Given the description of an element on the screen output the (x, y) to click on. 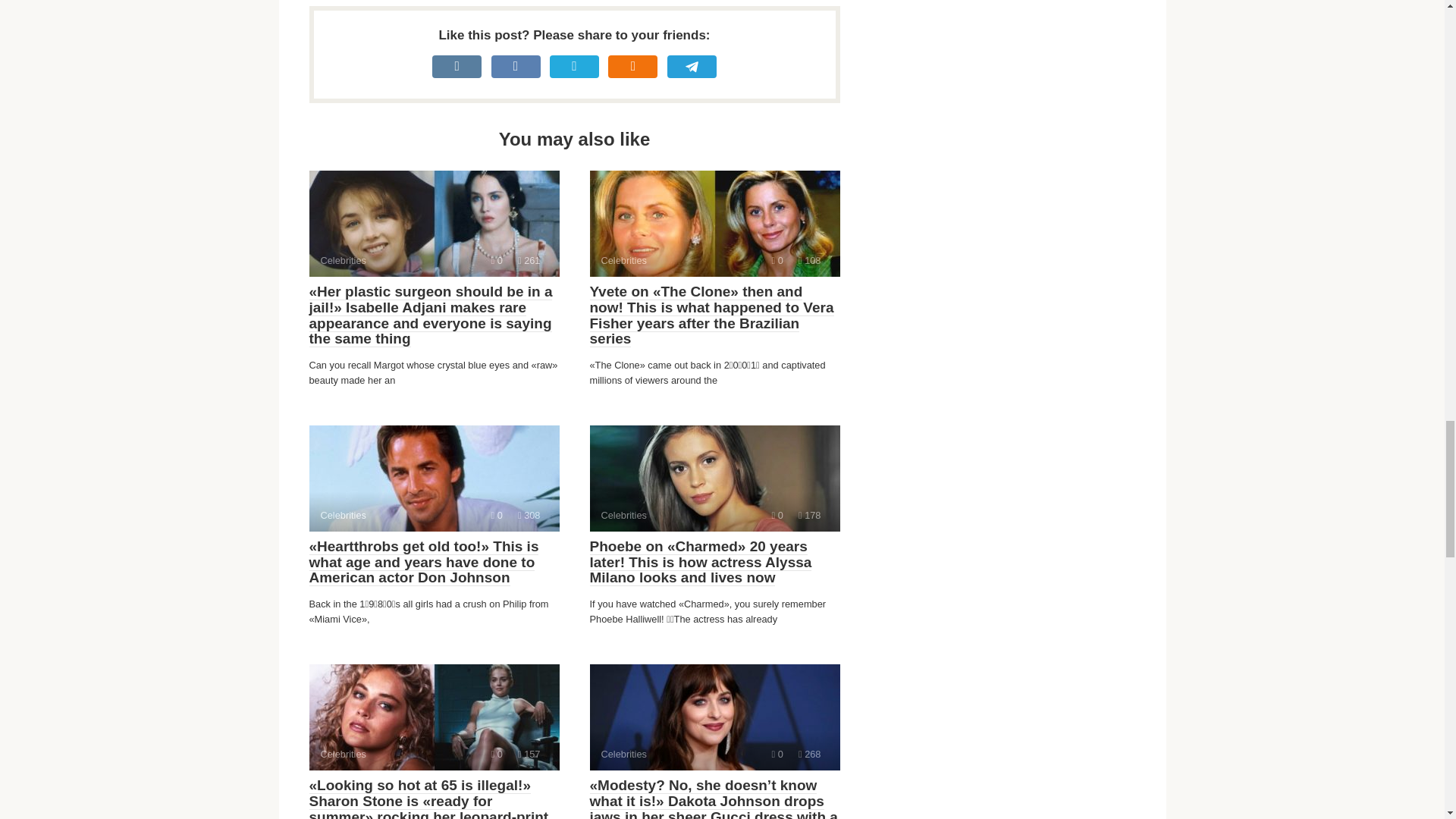
Views (809, 754)
Views (529, 260)
Views (809, 514)
Views (433, 717)
Views (714, 717)
Views (529, 754)
Comments (529, 514)
Comments (809, 260)
Comments (497, 514)
